Given the description of an element on the screen output the (x, y) to click on. 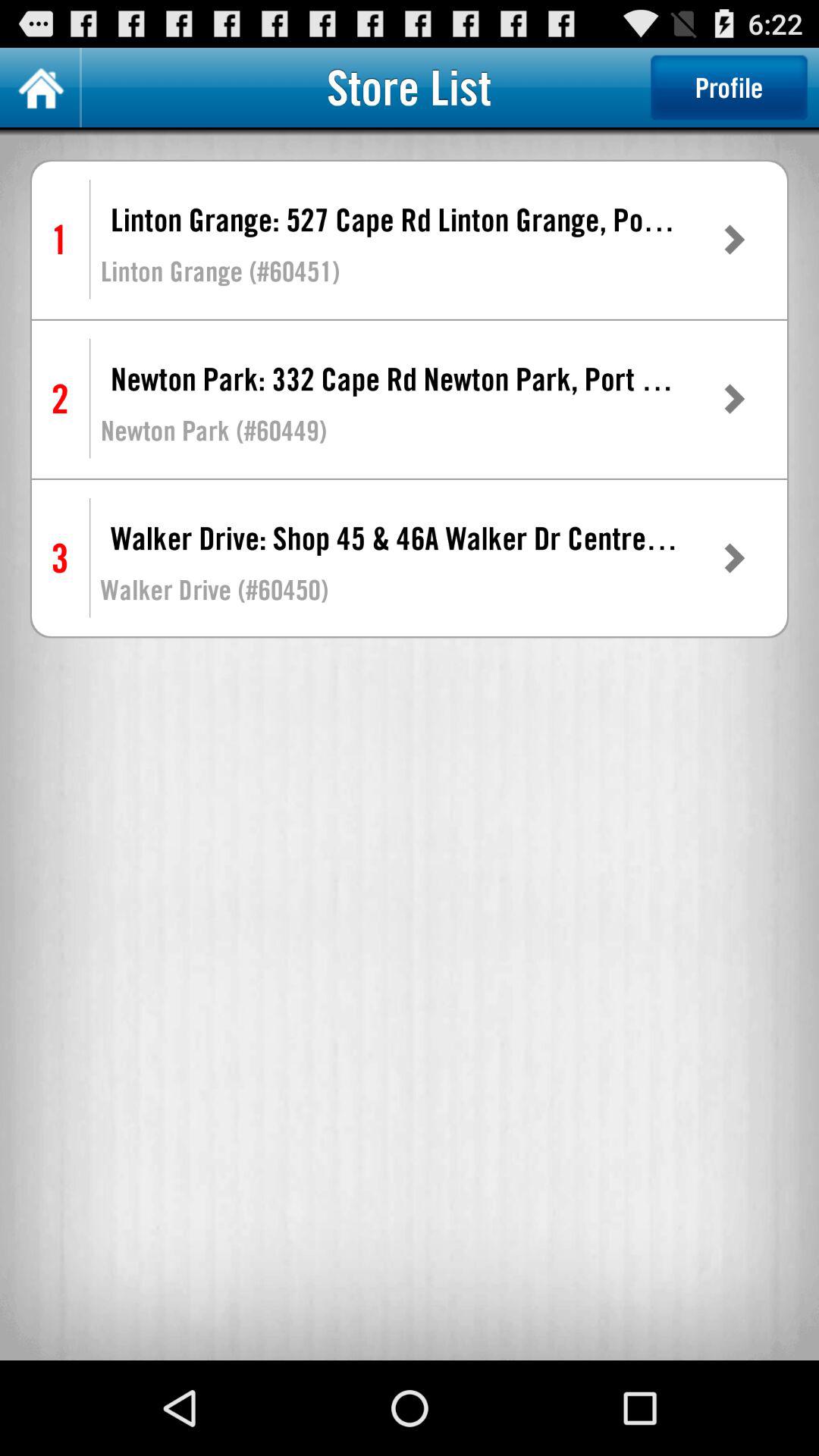
launch profile icon (728, 87)
